Given the description of an element on the screen output the (x, y) to click on. 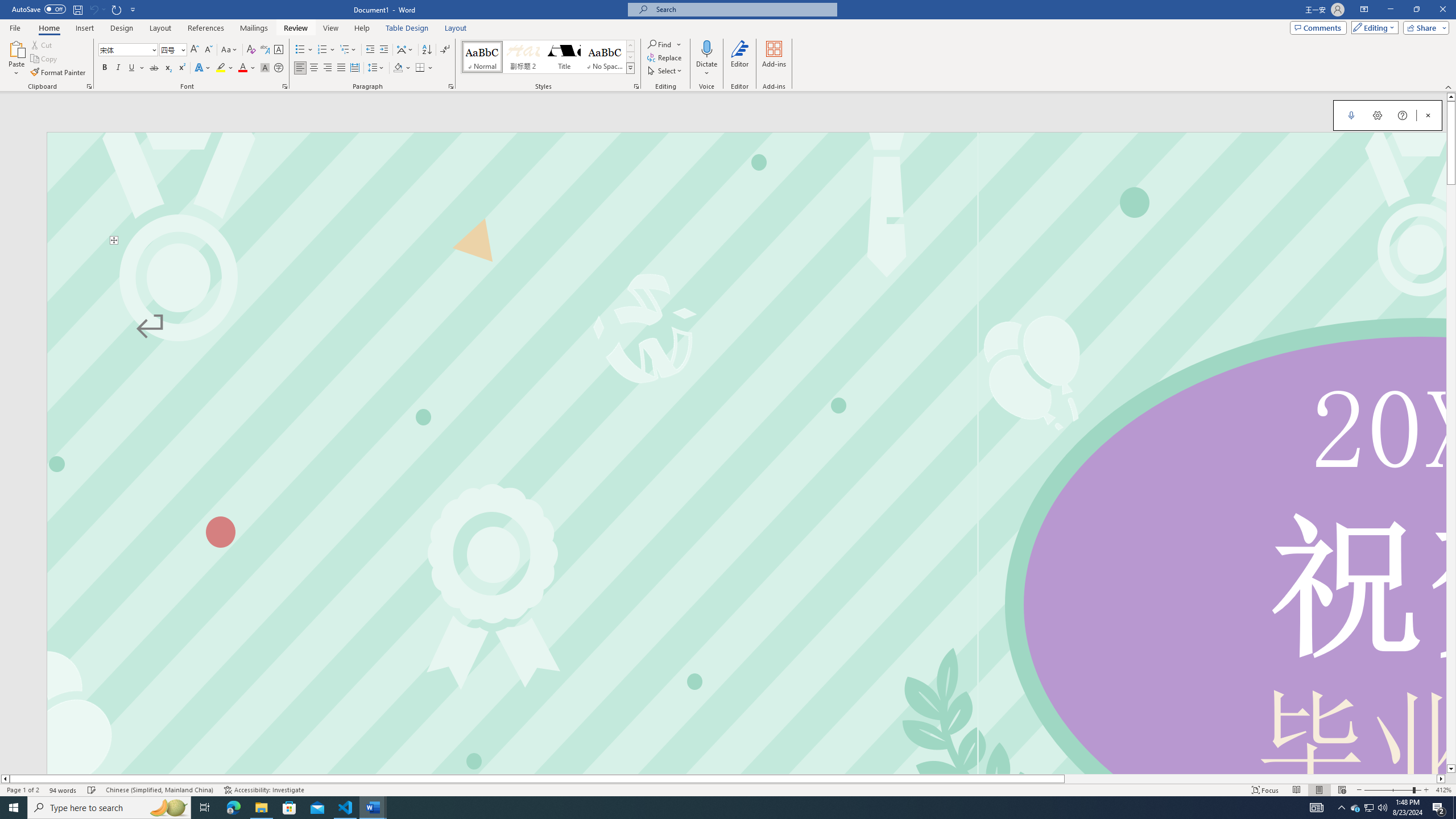
Page down (1450, 474)
Class: MsoCommandBar (728, 789)
Mode (1372, 27)
Justify (340, 67)
Character Shading (264, 67)
AutomationID: QuickStylesGallery (548, 56)
Select (665, 69)
Styles... (635, 85)
Decrease Indent (370, 49)
